Given the description of an element on the screen output the (x, y) to click on. 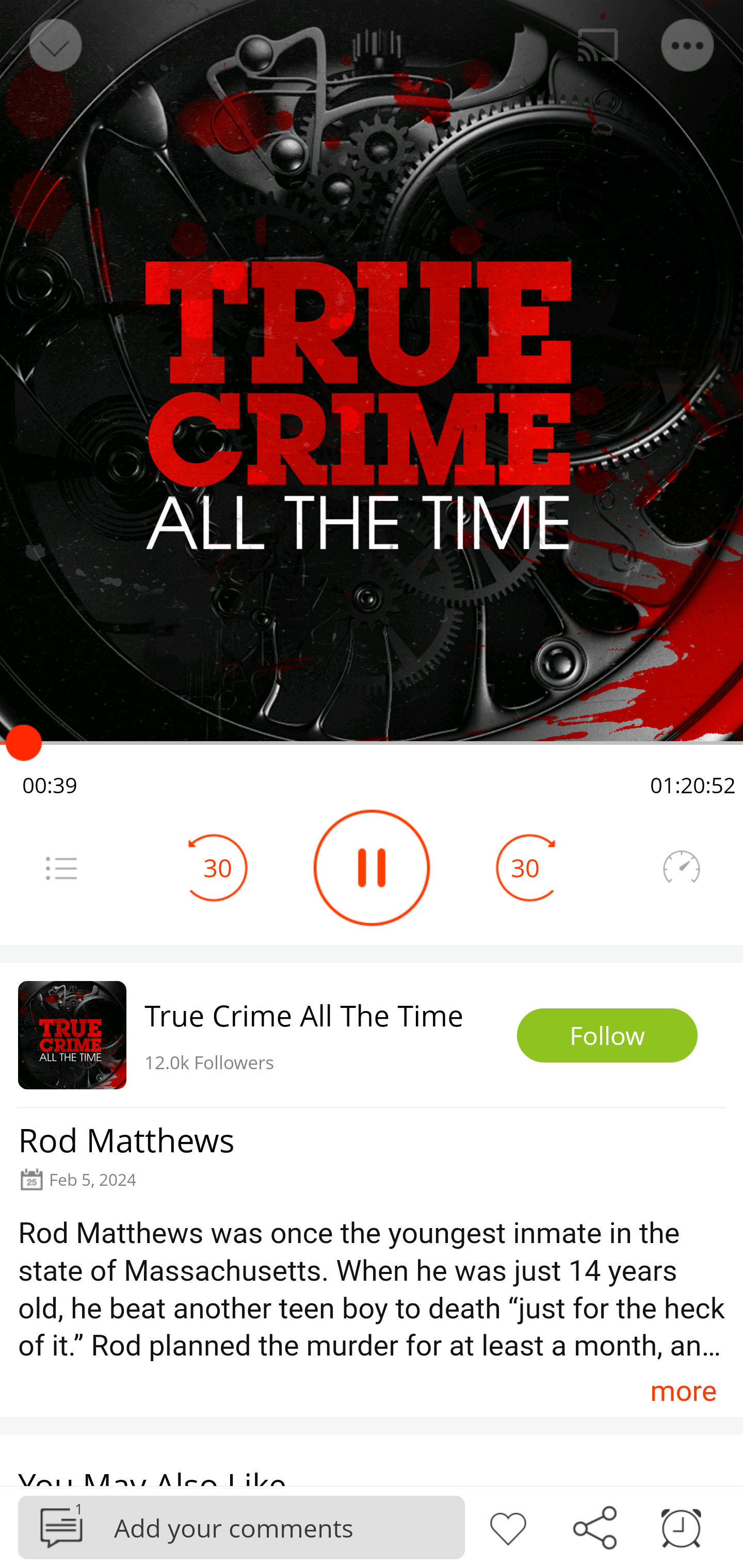
Back (53, 45)
Cast. Disconnected (597, 45)
Menu (688, 45)
Play (371, 867)
30 Seek Backward (217, 867)
30 Seek Forward (525, 867)
Menu (60, 867)
Speedometer (681, 867)
True Crime All The Time 12.0k Followers Follow (371, 1034)
Follow (607, 1035)
more (682, 1390)
Like (508, 1526)
Share (594, 1526)
Sleep timer (681, 1526)
Podbean 1 Add your comments (241, 1526)
